Given the description of an element on the screen output the (x, y) to click on. 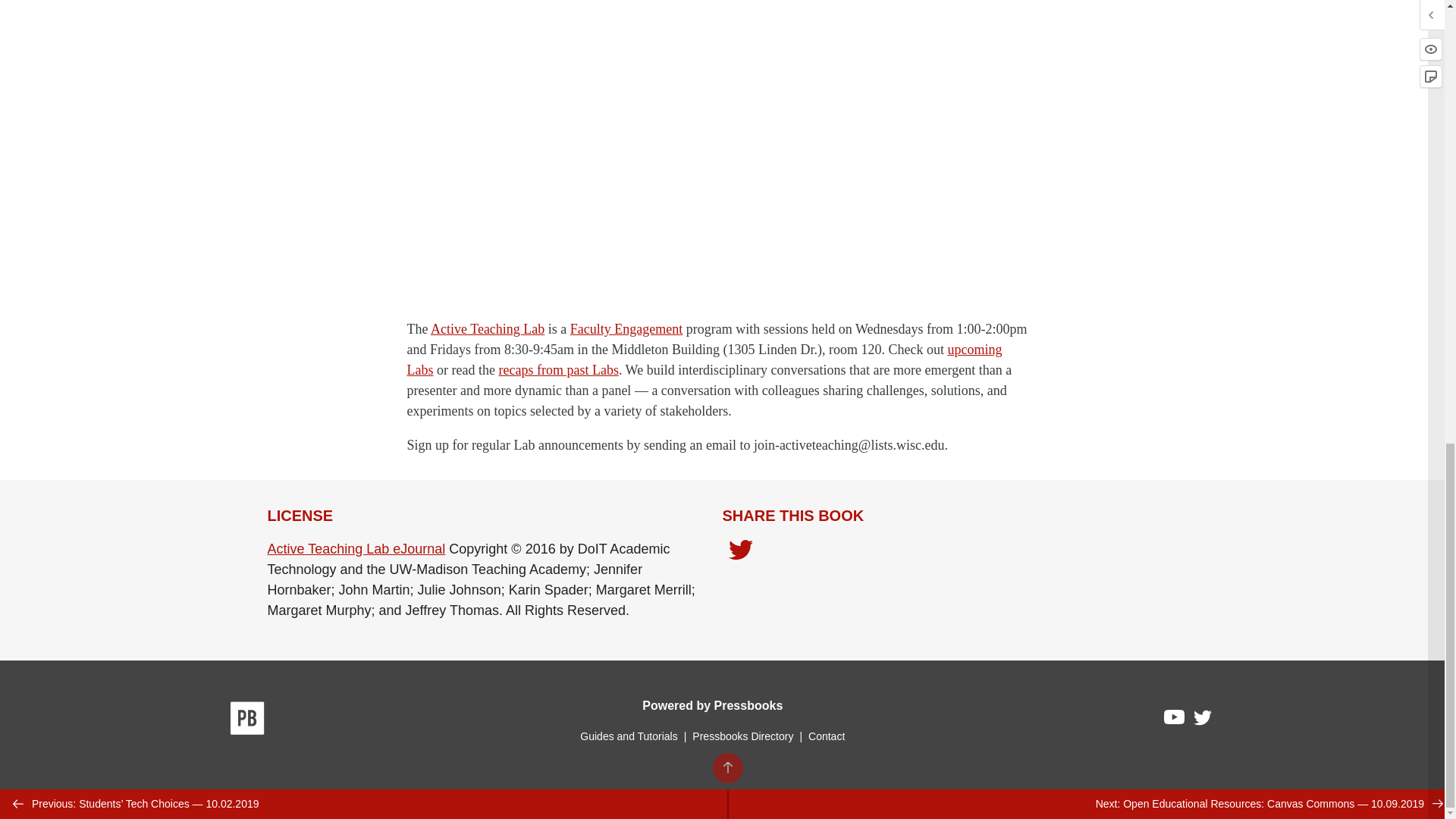
Contact (826, 736)
Faculty Engagement (626, 328)
Active Teaching Lab eJournal (355, 548)
Share on Twitter (740, 550)
Share on Twitter (740, 553)
Active Teaching Lab (487, 328)
Powered by Pressbooks (712, 705)
Guides and Tutorials (627, 736)
upcoming Labs (703, 359)
